Given the description of an element on the screen output the (x, y) to click on. 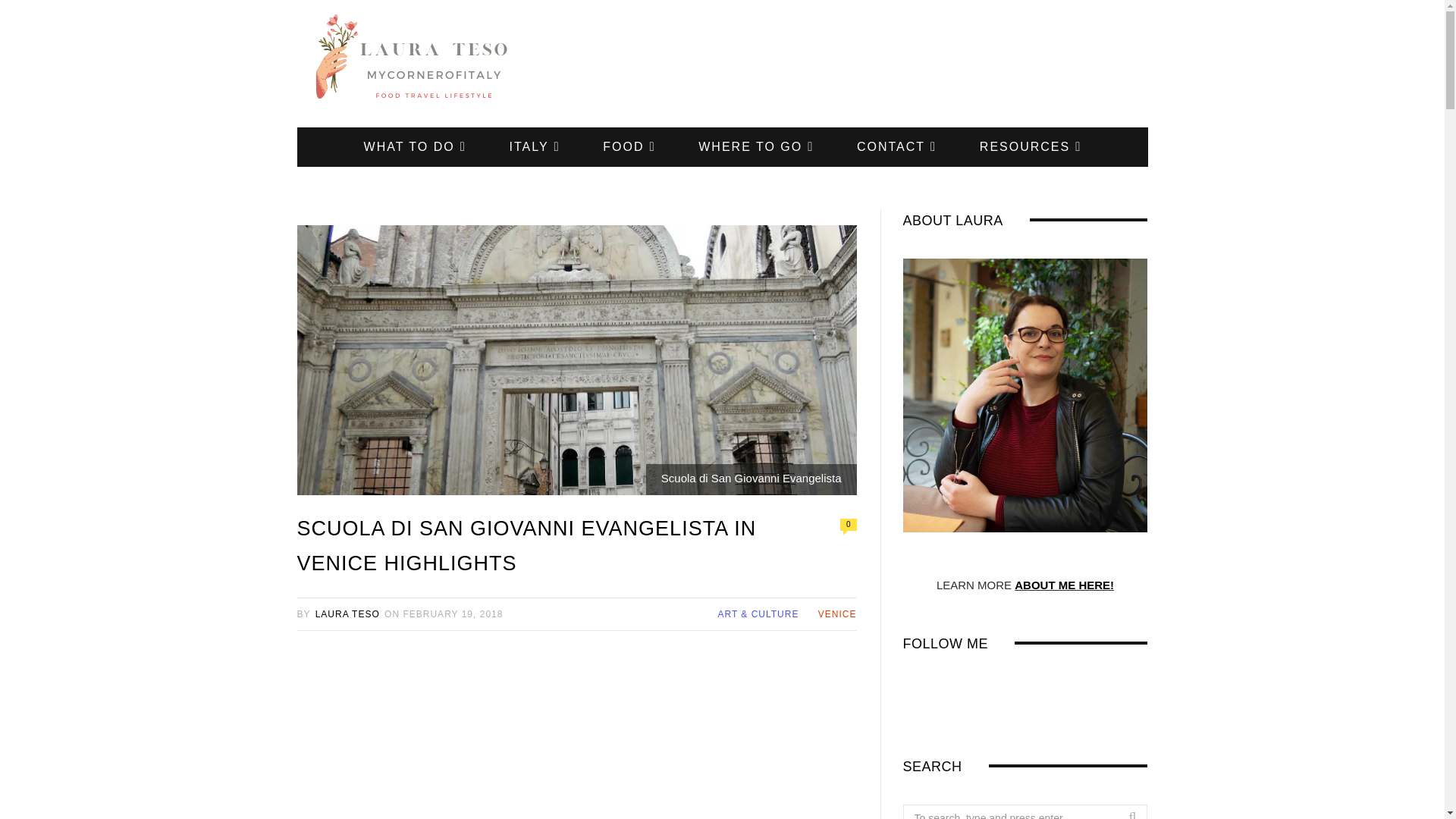
Posts by Laura Teso (347, 614)
Advertisement (577, 736)
WHERE TO GO (755, 146)
FOOD (629, 146)
ITALY (534, 146)
My Corner of Italy (418, 63)
WHAT TO DO (414, 146)
Advertisement (871, 63)
